Given the description of an element on the screen output the (x, y) to click on. 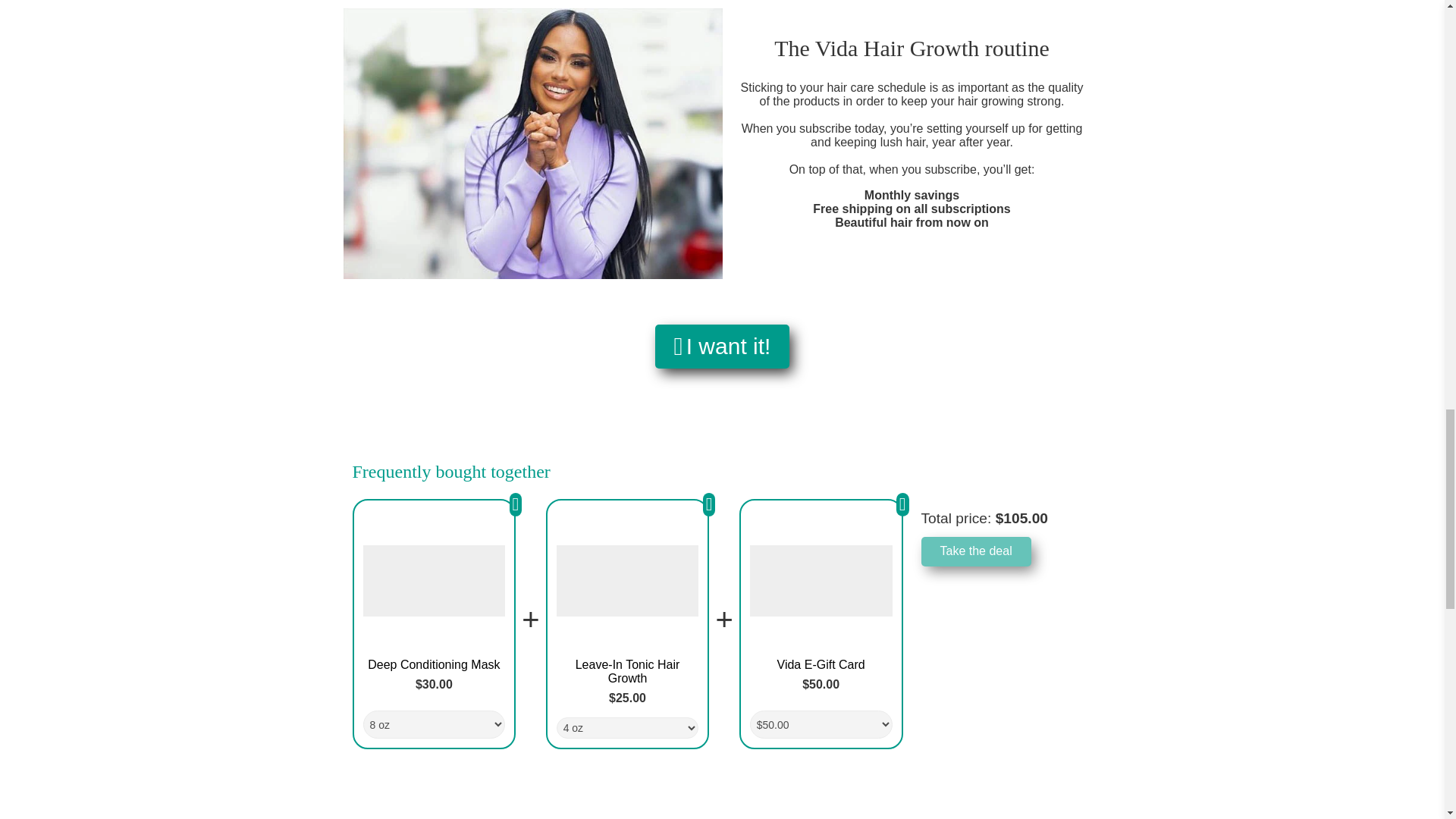
I want it! (722, 346)
Take the deal (975, 551)
